Given the description of an element on the screen output the (x, y) to click on. 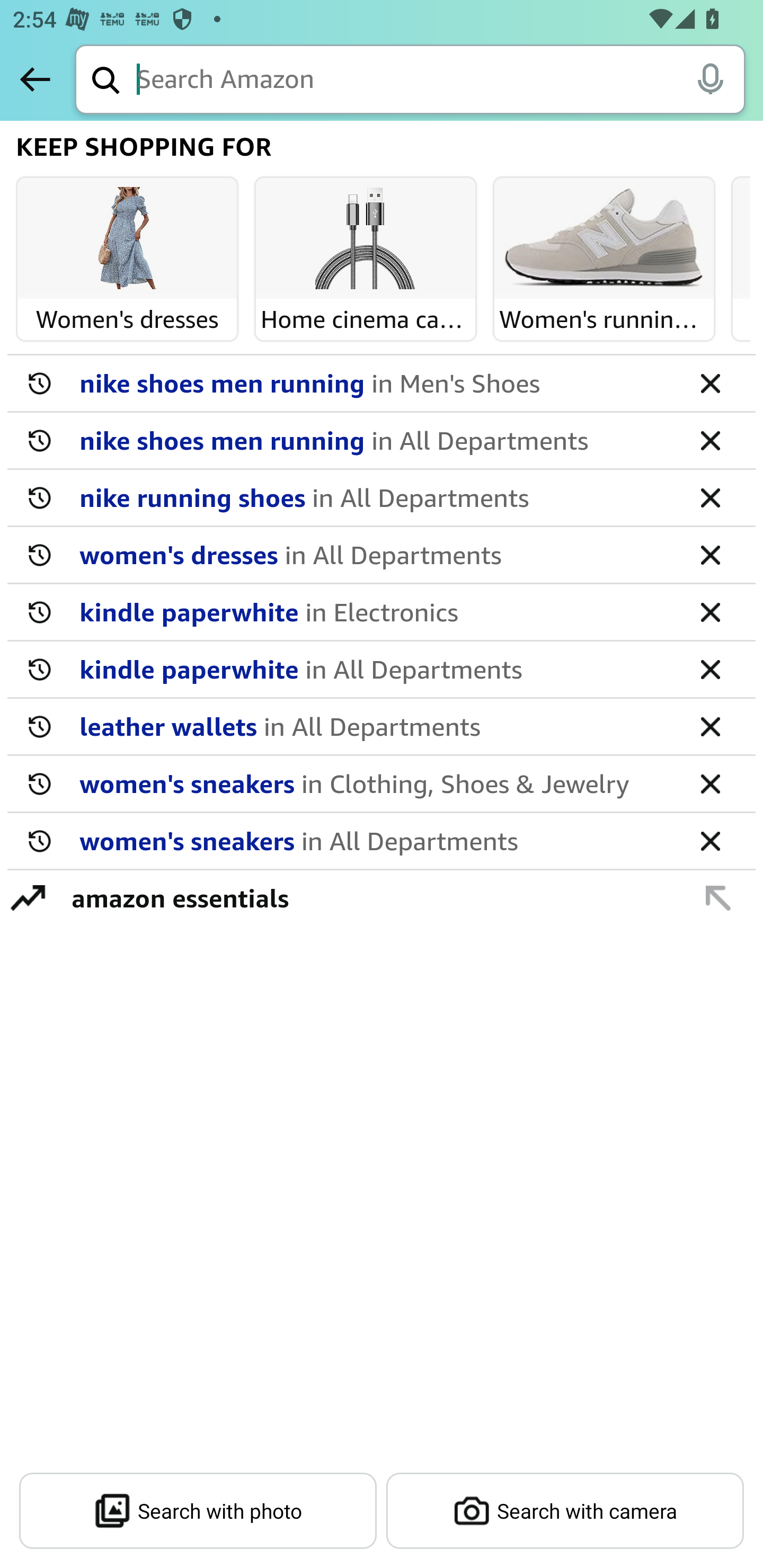
Search Amazon (440, 80)
Back (35, 78)
Alexa (710, 78)
Women's dresses (126, 238)
Home cinema cables (365, 238)
Women's running shoes (603, 238)
Books (741, 238)
nike shoes men running delete (381, 383)
nike shoes men running (374, 382)
delete (710, 382)
nike shoes men running delete (381, 440)
nike shoes men running (374, 439)
delete (710, 439)
nike running shoes delete (381, 497)
nike running shoes (374, 496)
delete (710, 496)
women's dresses delete (381, 554)
women's dresses (374, 554)
delete (710, 554)
kindle paperwhite delete (381, 612)
kindle paperwhite (374, 611)
delete (710, 611)
kindle paperwhite delete (381, 669)
kindle paperwhite (374, 668)
delete (710, 668)
leather wallets delete (381, 726)
leather wallets (374, 725)
delete (710, 725)
women's sneakers delete (381, 783)
women's sneakers (374, 783)
delete (710, 783)
women's sneakers delete (381, 841)
women's sneakers (374, 840)
delete (710, 840)
amazon essentials append suggestion (381, 897)
amazon essentials (370, 897)
append suggestion (718, 897)
Search with photo (197, 1510)
Search with camera (564, 1510)
